Given the description of an element on the screen output the (x, y) to click on. 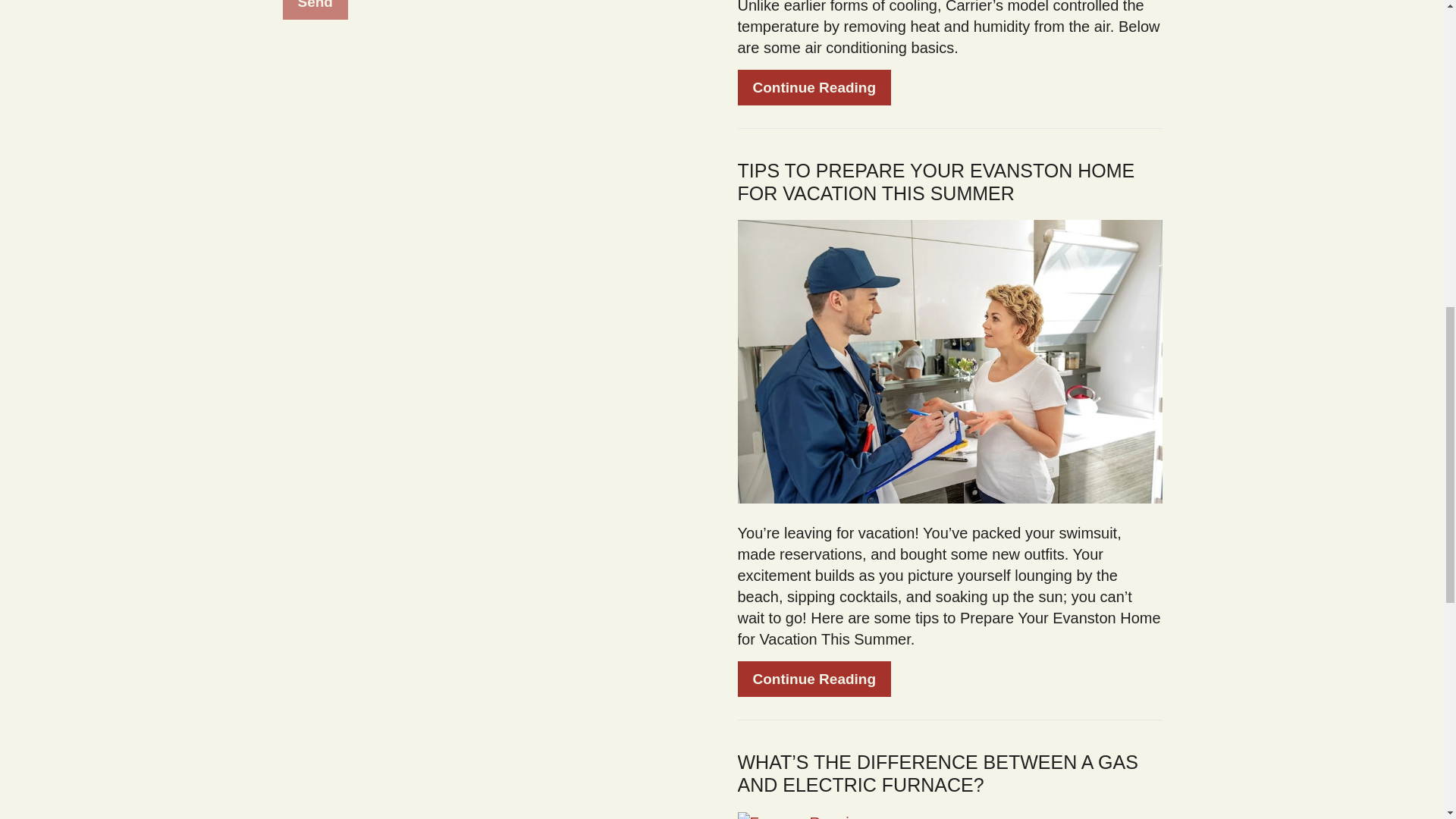
Send (314, 9)
Tips to Prepare Your Evanston Home for Vacation This Summer (948, 360)
Tips to Prepare Your Evanston Home for Vacation This Summer (935, 181)
Tips to Prepare Your Evanston Home for Vacation This Summer (813, 678)
